Given the description of an element on the screen output the (x, y) to click on. 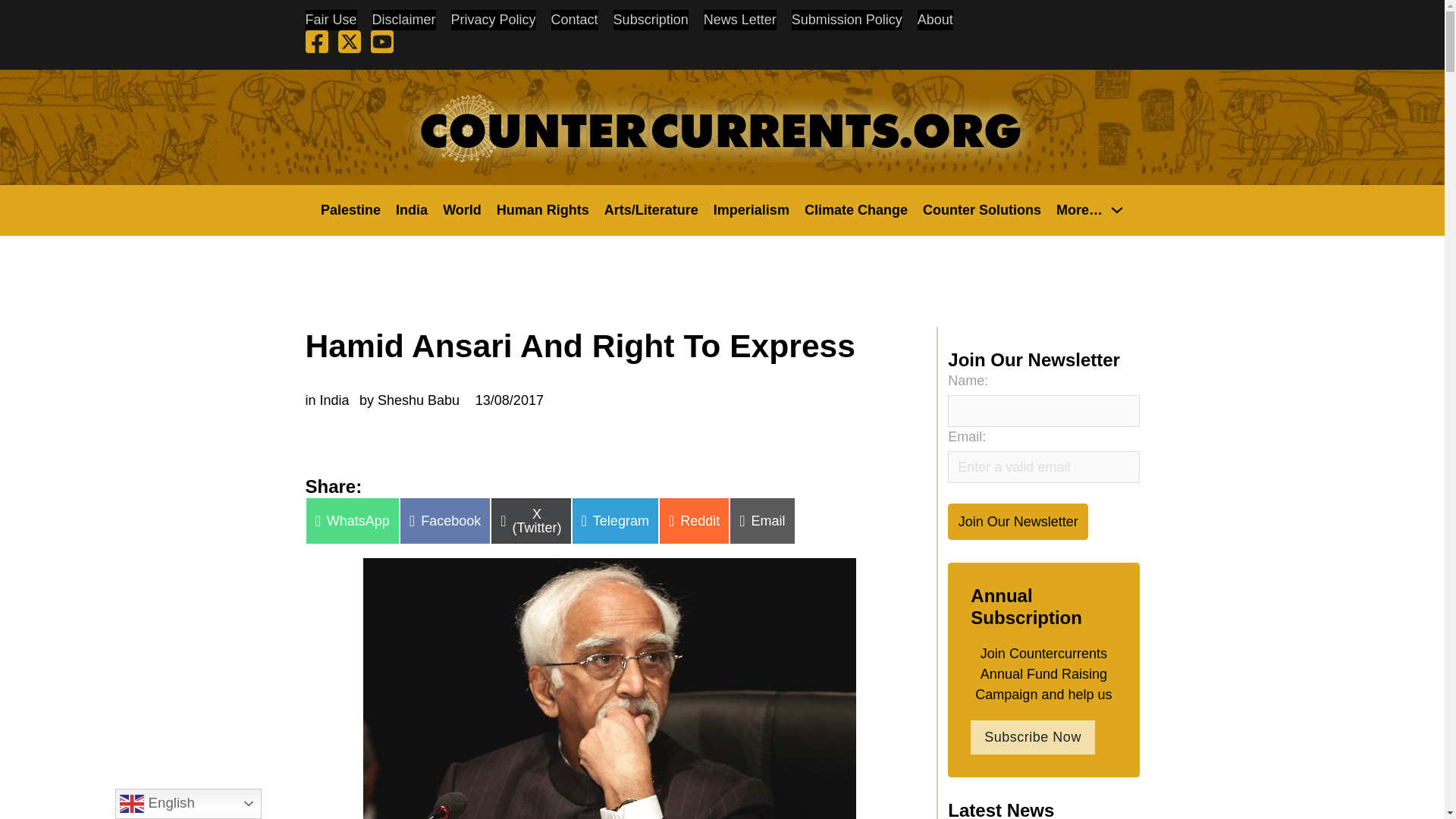
Subscription (650, 19)
Join Our Newsletter (1017, 520)
Palestine (350, 209)
Imperialism (751, 209)
World (461, 209)
India (412, 209)
Privacy Policy (493, 19)
About (935, 19)
News Letter (739, 19)
Climate Change (856, 209)
Submission Policy (847, 19)
Fair Use (330, 19)
Contact (574, 19)
Counter Solutions (982, 209)
